Given the description of an element on the screen output the (x, y) to click on. 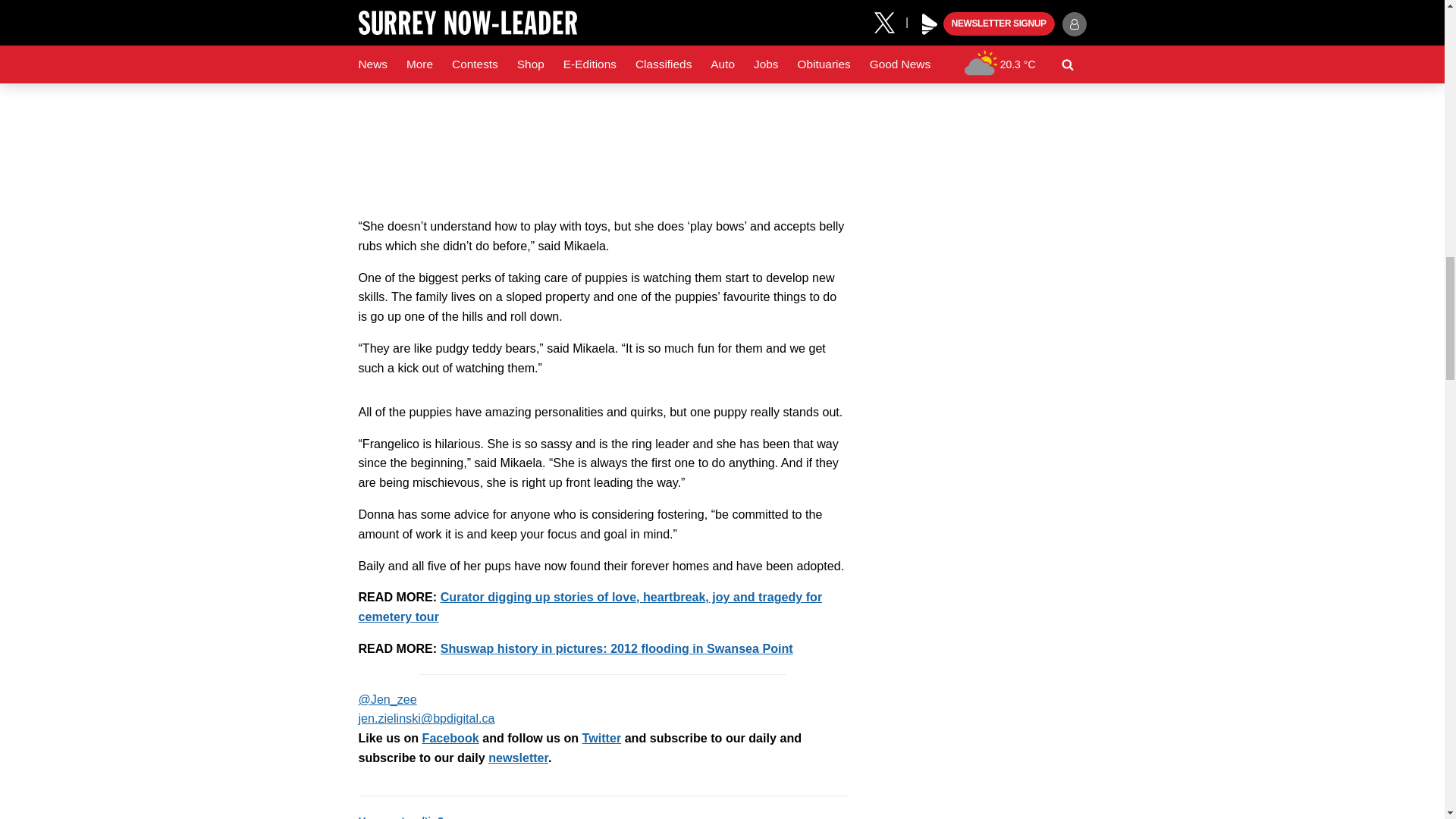
YouTube video player (602, 99)
